Given the description of an element on the screen output the (x, y) to click on. 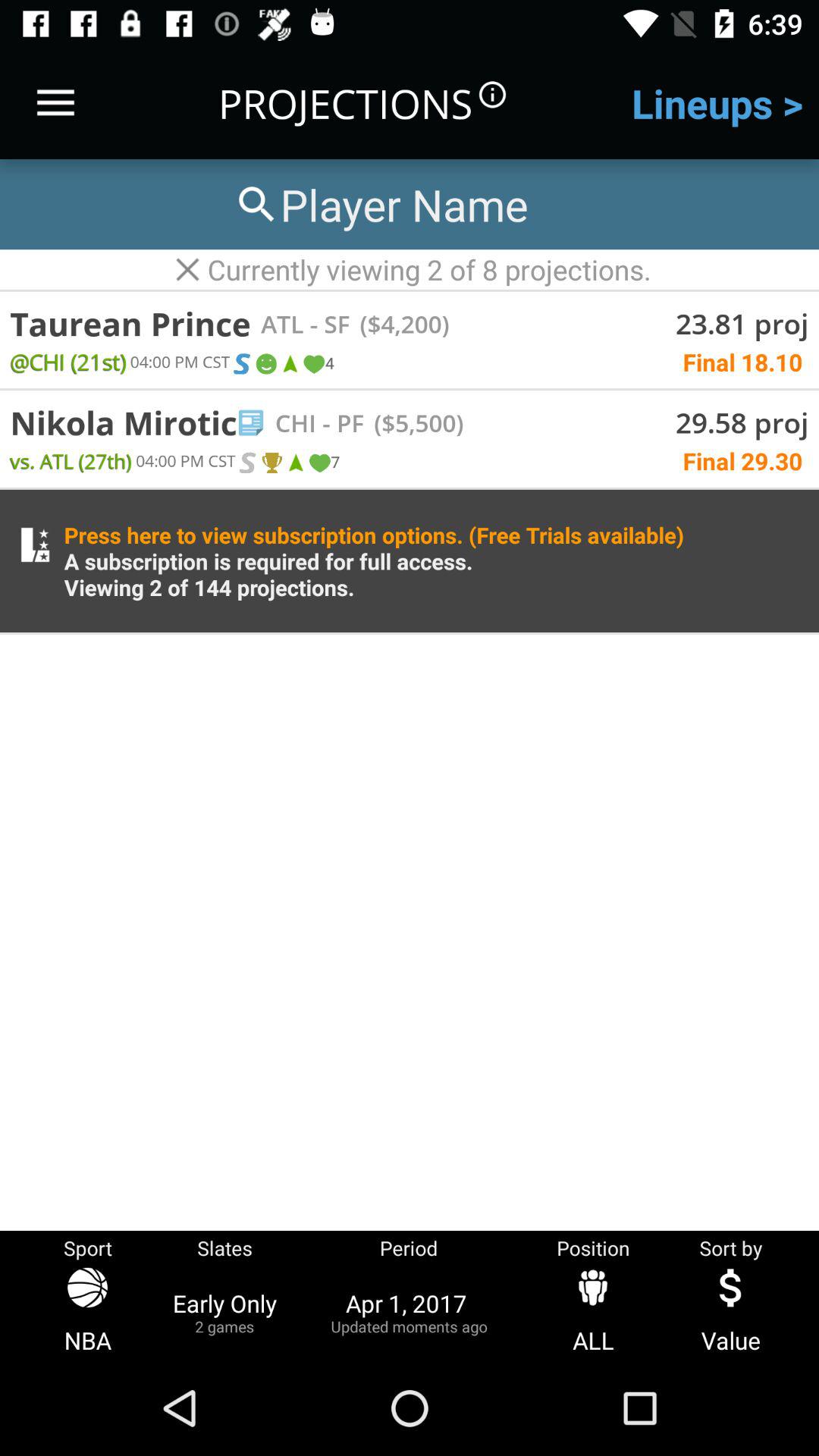
typing bar for name (380, 204)
